Given the description of an element on the screen output the (x, y) to click on. 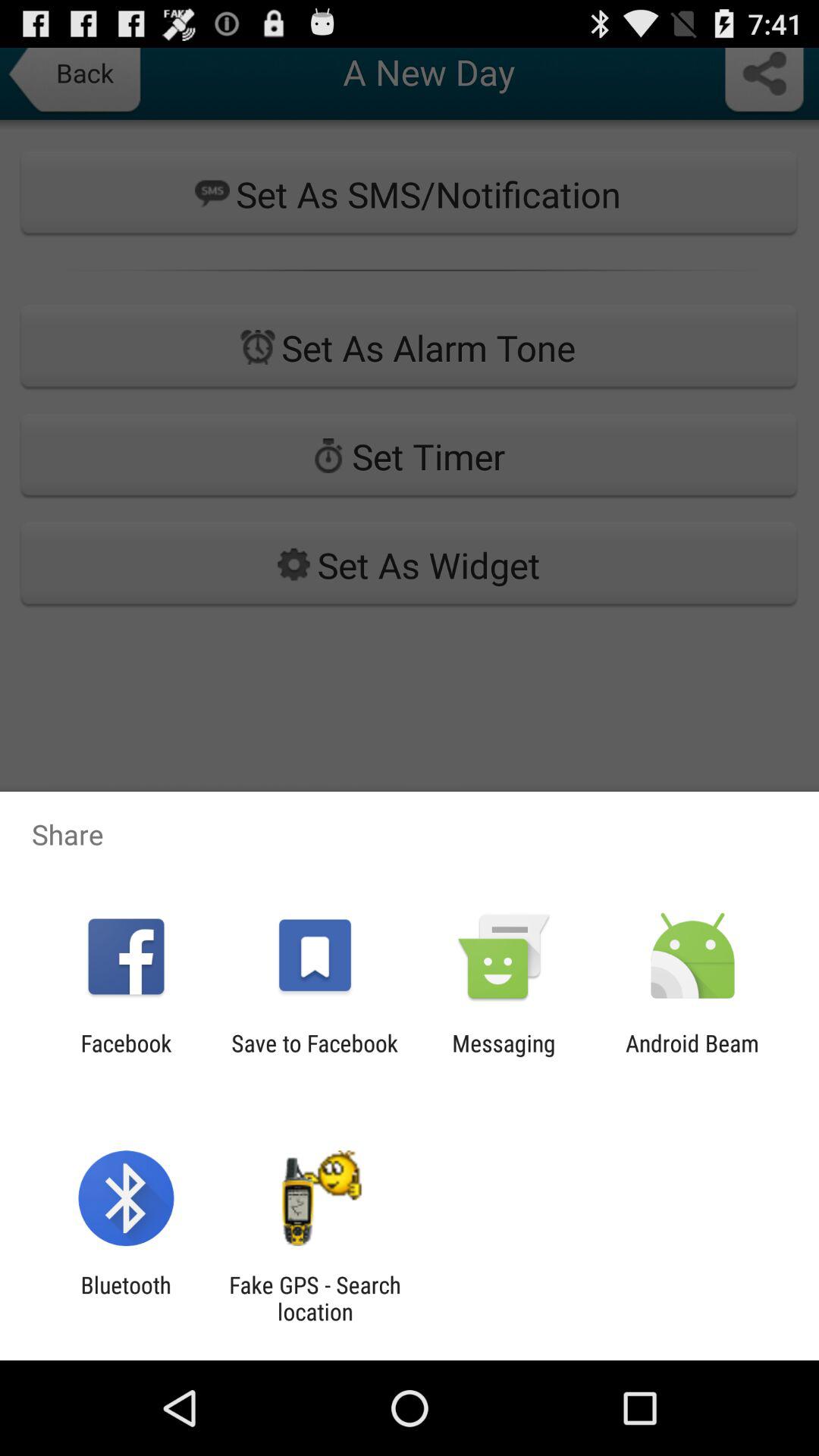
scroll to messaging icon (503, 1056)
